Given the description of an element on the screen output the (x, y) to click on. 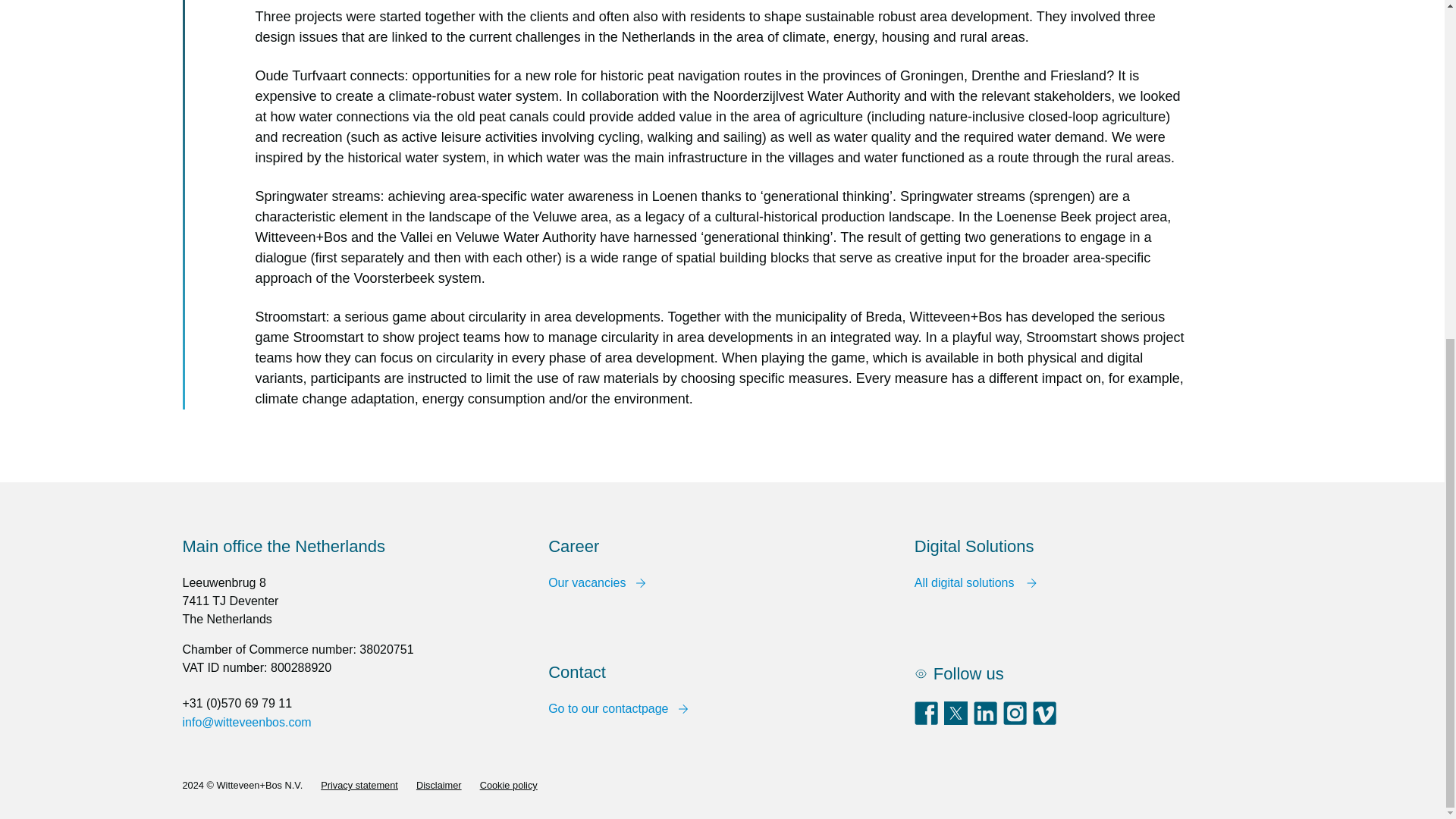
All digital solutions (976, 583)
footer.instagram (1016, 720)
Our vacancies (595, 583)
Go to our contactpage (616, 709)
Cookie policy (508, 785)
footer.vimeo (1045, 720)
LinkedIn (987, 720)
Disclaimer (438, 785)
Facebook (927, 720)
Twitter (957, 720)
